Given the description of an element on the screen output the (x, y) to click on. 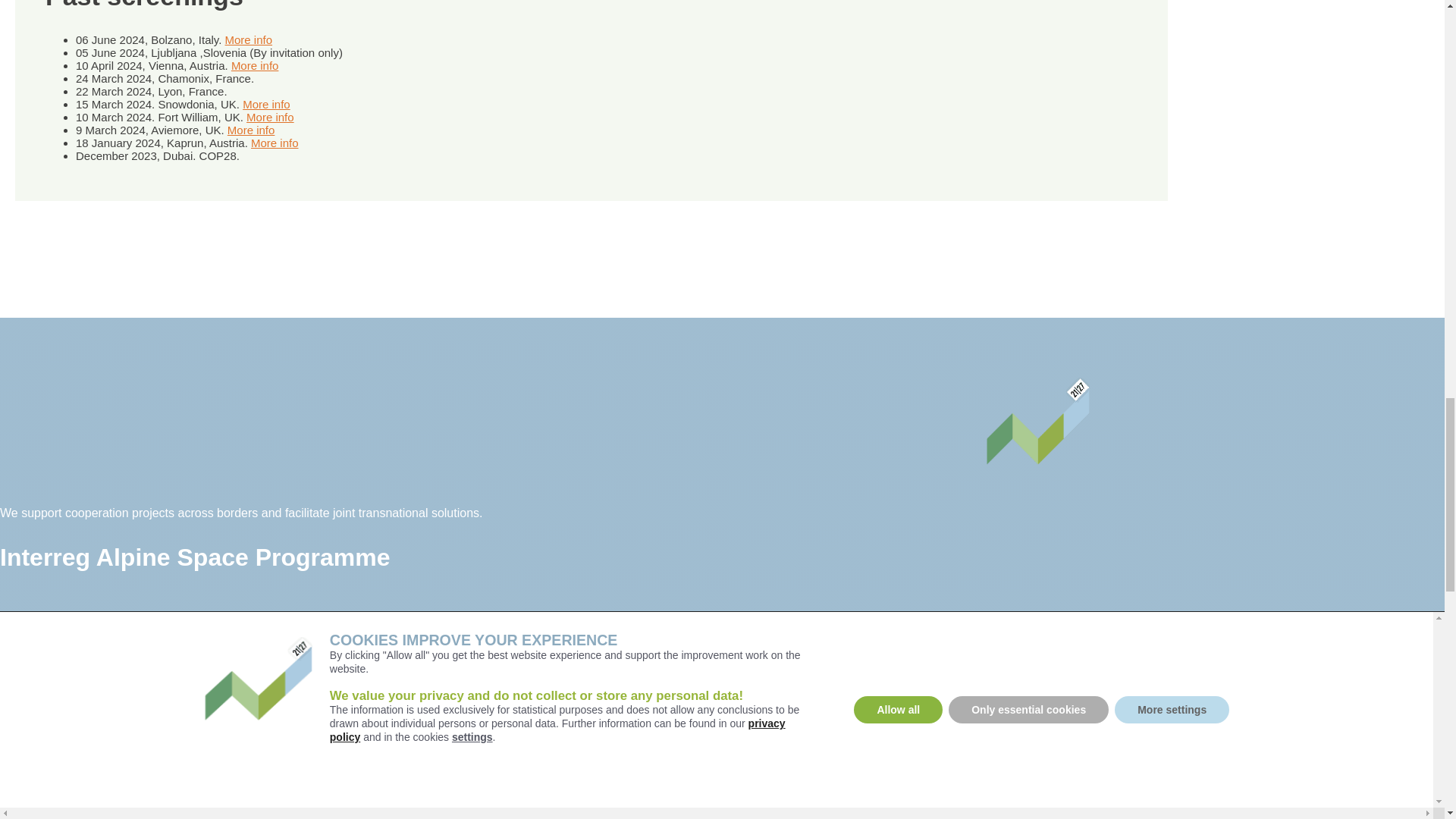
SymbolBig-period (1037, 421)
